Given the description of an element on the screen output the (x, y) to click on. 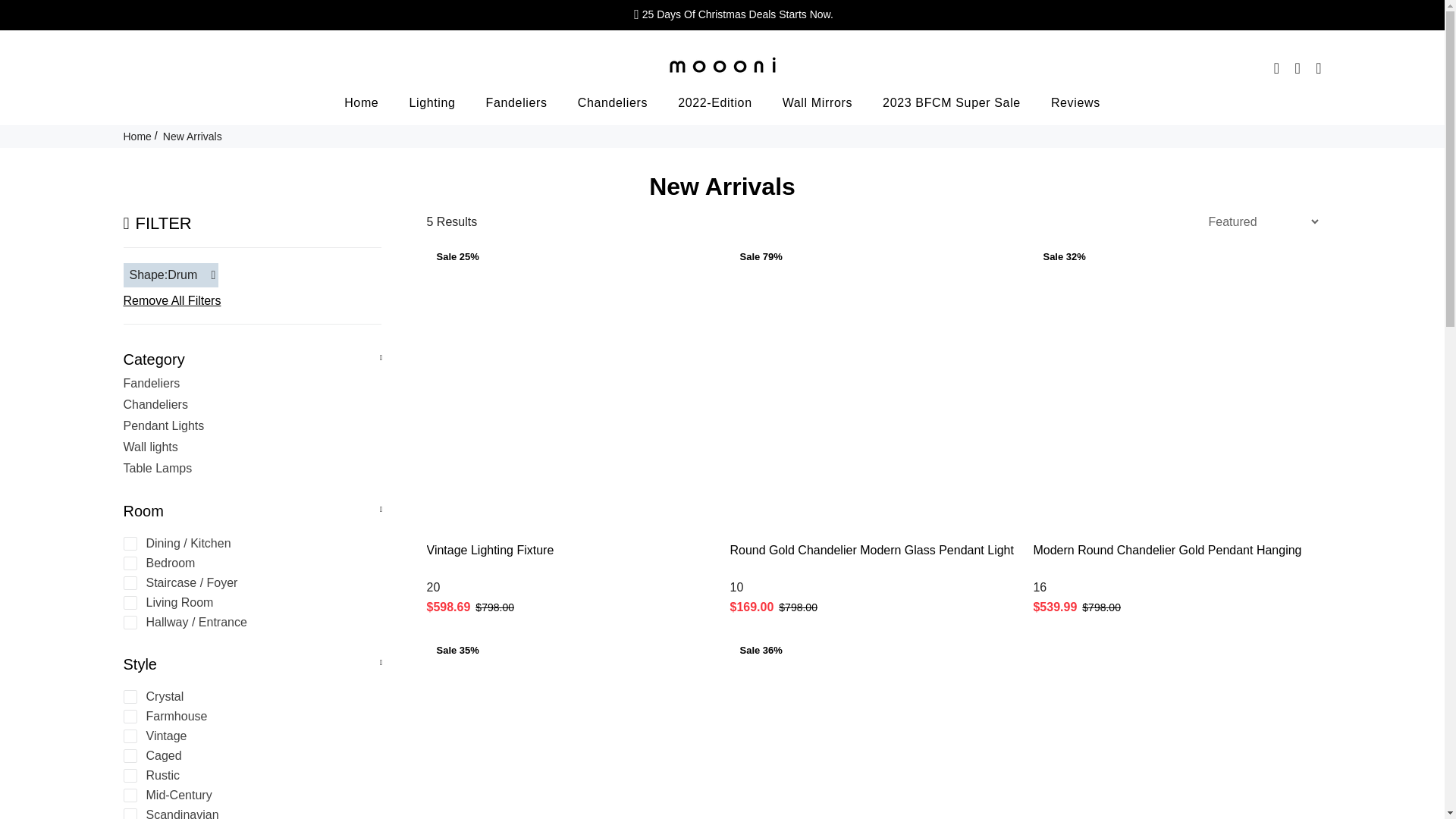
Show products matching tag bedroom (249, 563)
Show products matching tag living room (249, 602)
Show products matching tag rustic (249, 775)
Show products matching tag farmhouse (249, 716)
Show products matching tag caged (249, 755)
Show products matching tag scandinavian (249, 813)
Show products matching tag vintage (249, 735)
Show products matching tag crystal (249, 696)
Show products matching tag mid-century (249, 795)
